Given the description of an element on the screen output the (x, y) to click on. 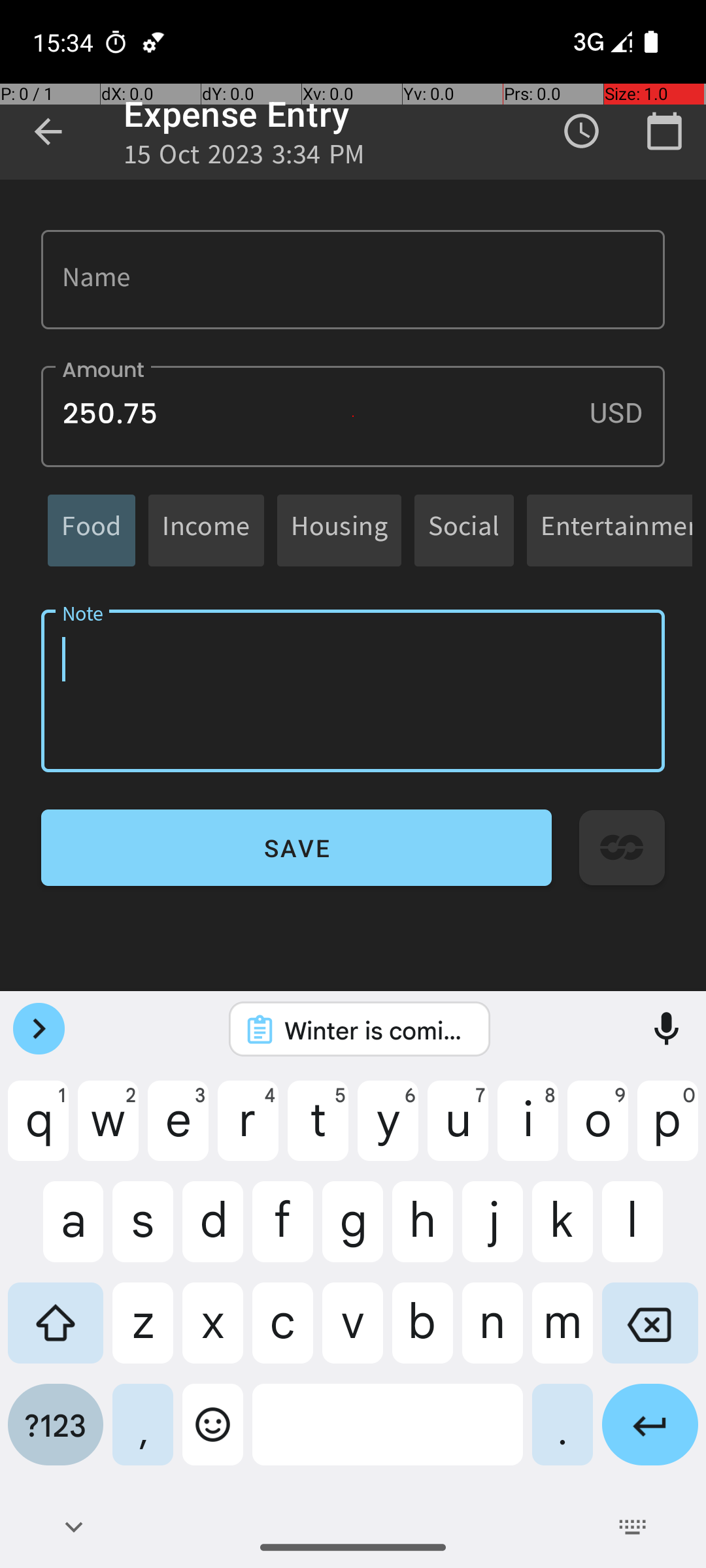
Winter is coming. Element type: android.widget.TextView (376, 1029)
